Given the description of an element on the screen output the (x, y) to click on. 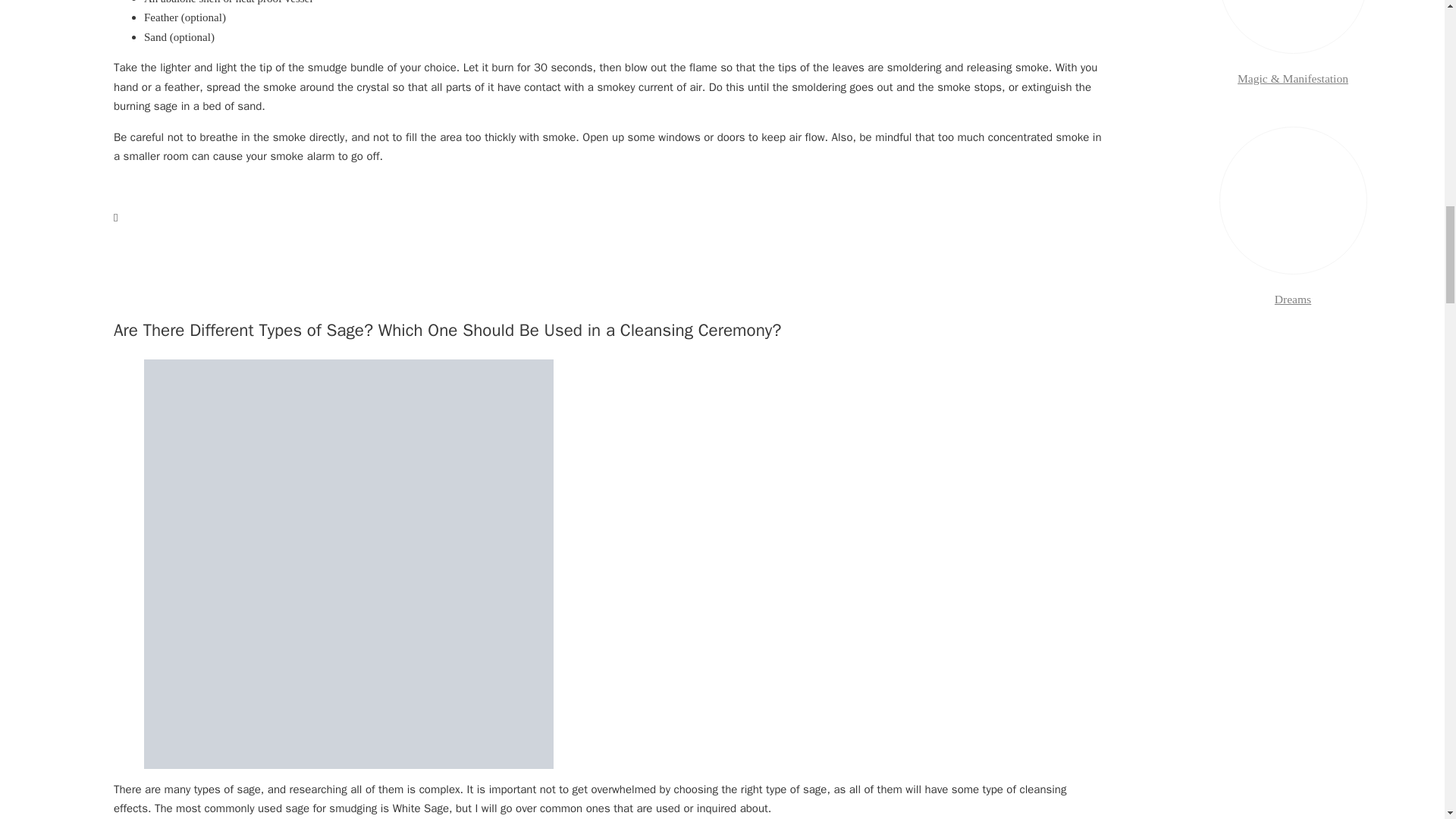
Dreams (1293, 299)
